Given the description of an element on the screen output the (x, y) to click on. 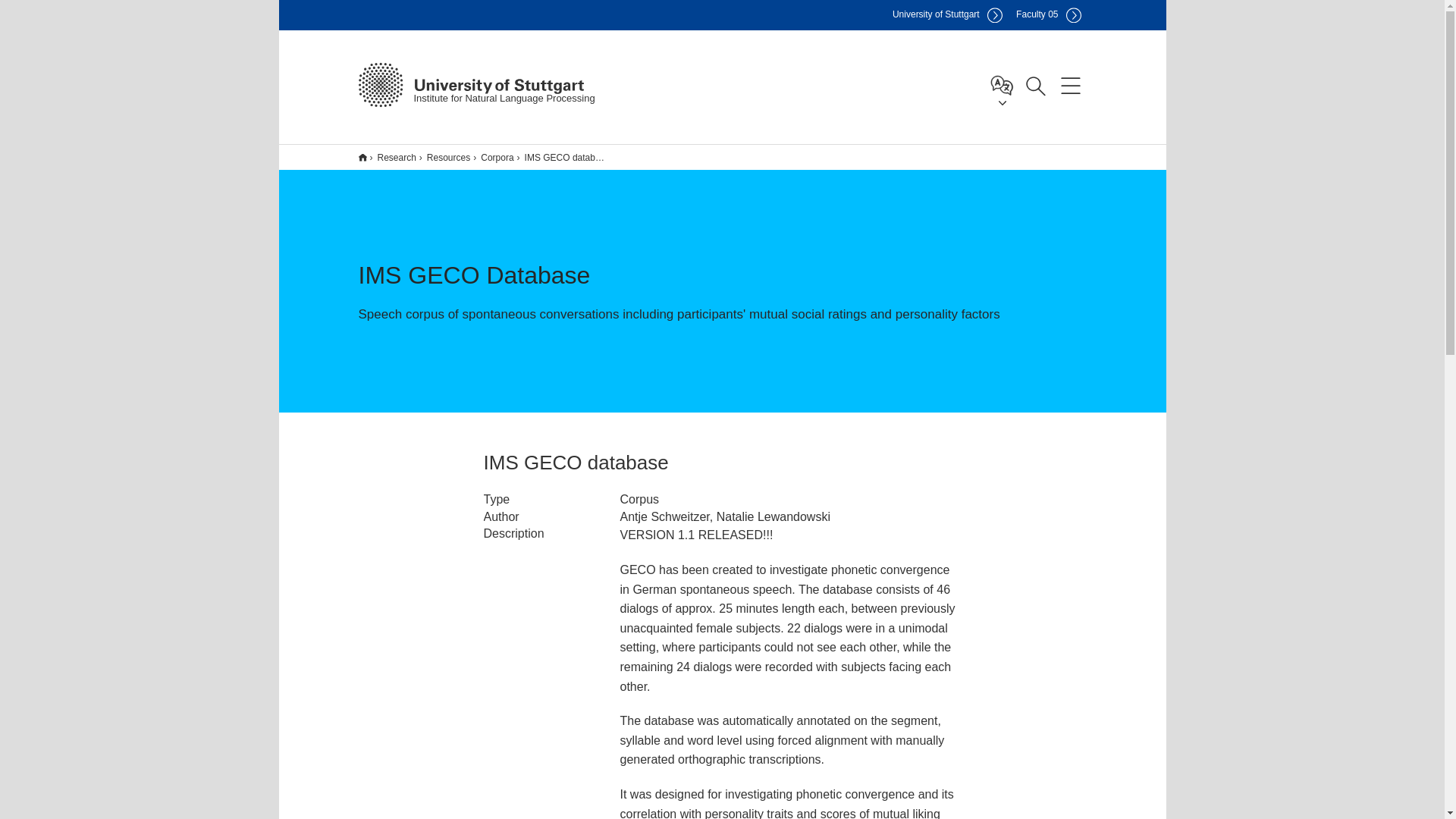
Corpora (493, 156)
Search (1035, 84)
IMS GECO database (562, 156)
Research (391, 156)
Resources (444, 156)
search (1049, 177)
Faculty 05 (1048, 15)
Resources (443, 156)
IMS GECO database (560, 156)
